Given the description of an element on the screen output the (x, y) to click on. 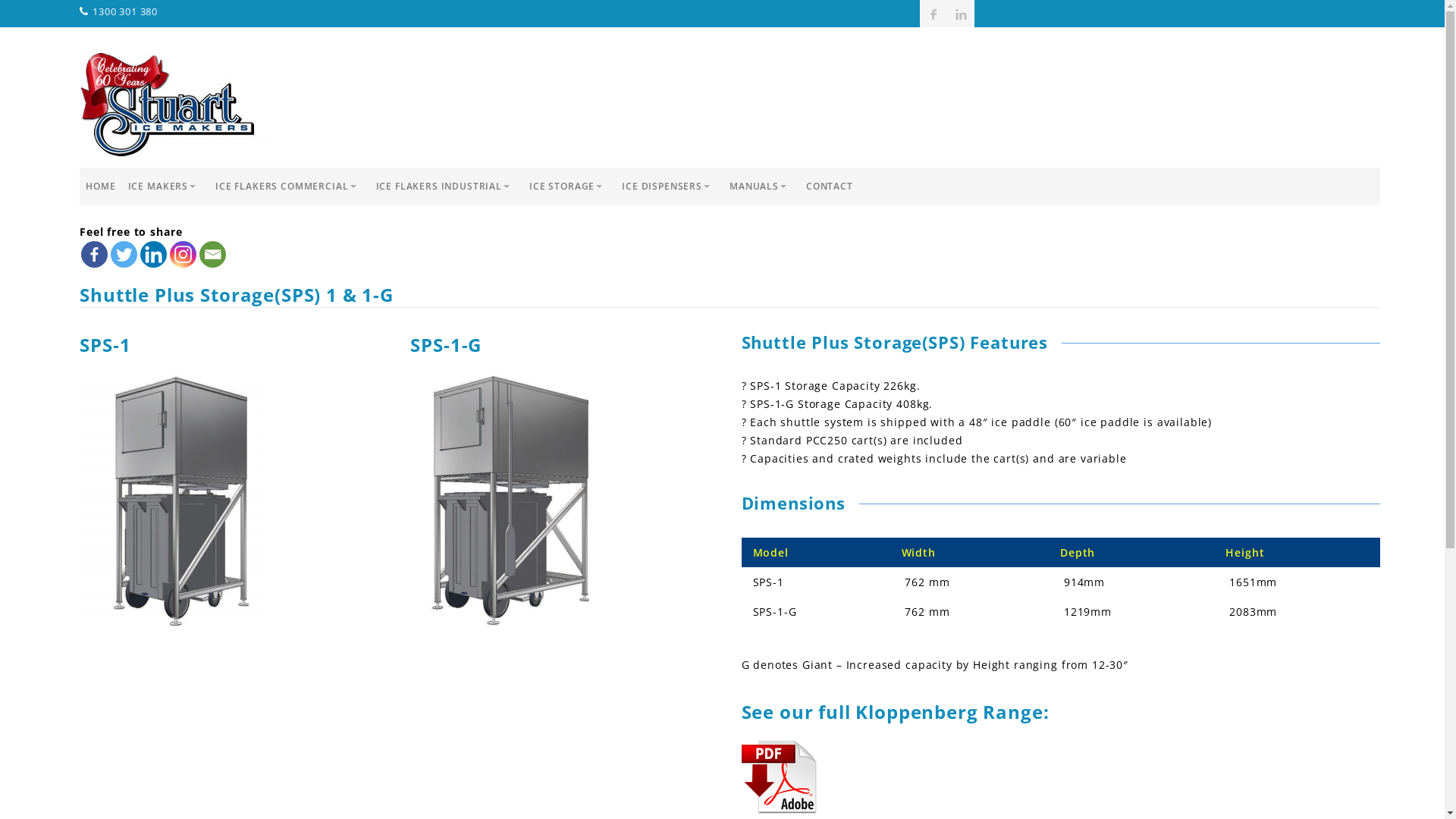
MANUALS Element type: text (761, 186)
ICE STORAGE Element type: text (569, 186)
pdf-icon-copy-min Element type: hover (779, 776)
ICE FLAKERS COMMERCIAL Element type: text (289, 186)
Facebook Element type: hover (94, 254)
SPS-1-G Element type: hover (506, 502)
HOME Element type: text (100, 186)
ICE DISPENSERS Element type: text (669, 186)
ICE FLAKERS INDUSTRIAL Element type: text (446, 186)
CONTACT Element type: text (829, 186)
Linkedin Element type: hover (153, 254)
1300 301 380 Element type: text (118, 11)
Twitter Element type: hover (123, 254)
Instagram Element type: hover (182, 254)
LinkedIN Element type: hover (960, 13)
SPS-1 Element type: hover (174, 500)
ICE MAKERS Element type: text (165, 186)
Find us on Facebook Element type: hover (933, 13)
Email Element type: hover (212, 254)
